Given the description of an element on the screen output the (x, y) to click on. 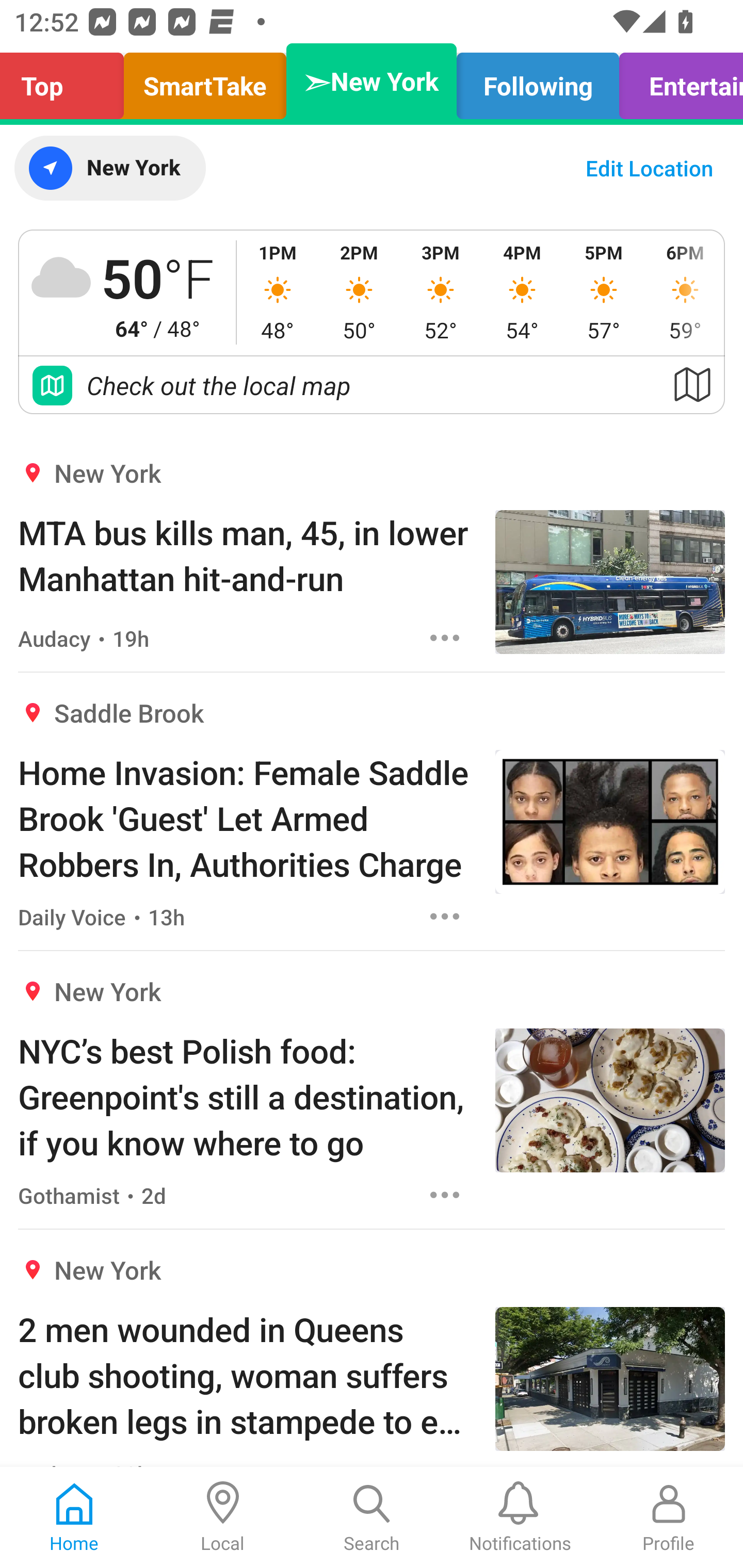
Top (67, 81)
SmartTake (204, 81)
➣New York (371, 81)
Following (537, 81)
New York (109, 168)
Edit Location (648, 168)
1PM 48° (277, 291)
2PM 50° (358, 291)
3PM 52° (440, 291)
4PM 54° (522, 291)
5PM 57° (603, 291)
6PM 59° (684, 291)
Check out the local map (371, 384)
Options (444, 638)
Options (444, 916)
Options (444, 1194)
Local (222, 1517)
Search (371, 1517)
Notifications (519, 1517)
Profile (668, 1517)
